Given the description of an element on the screen output the (x, y) to click on. 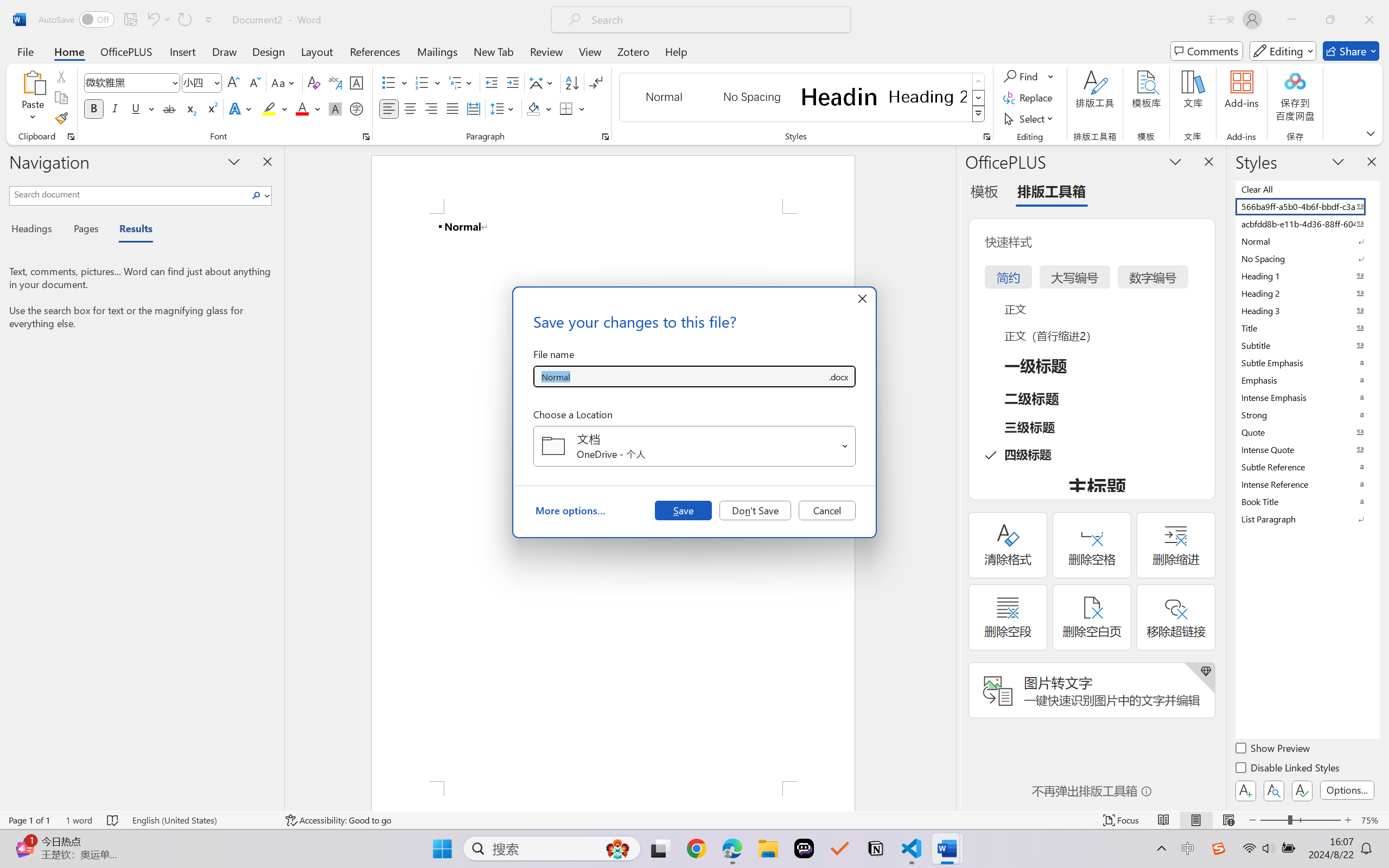
Grow Font (233, 82)
Paste (33, 97)
Borders (571, 108)
Font (132, 82)
Sort... (571, 82)
Office Clipboard... (70, 136)
Subtitle (1306, 345)
Web Layout (1228, 819)
Mailings (437, 51)
Results (130, 229)
Center (409, 108)
Zoom Out (1273, 819)
